Given the description of an element on the screen output the (x, y) to click on. 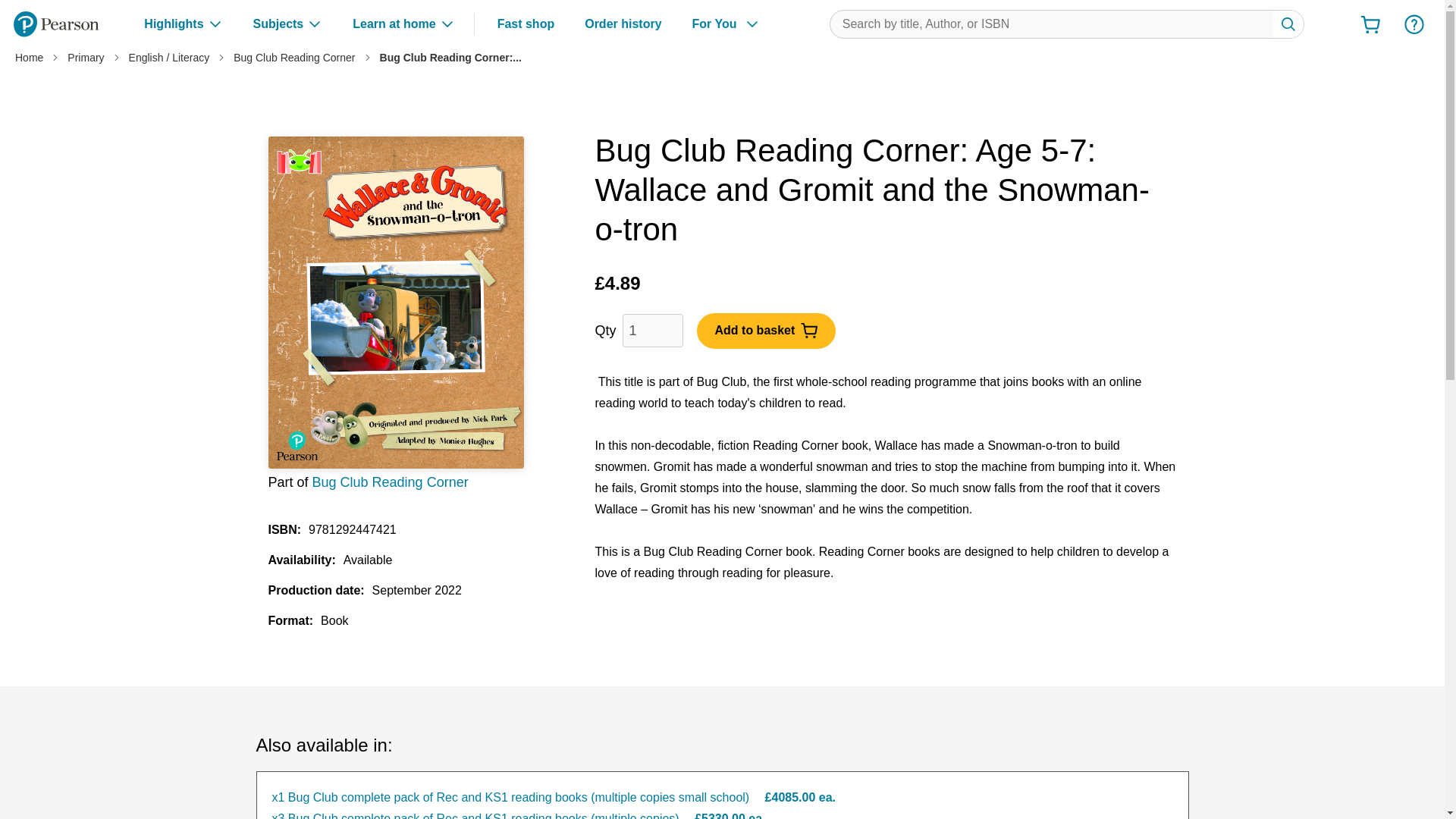
Bug Club Reading Corner (293, 57)
Search by title, Author, or ISBN (1287, 23)
For You (725, 24)
Primary (84, 57)
Home (28, 57)
Search by title, Author, or ISBN (1287, 23)
Add to basket (766, 330)
Search by title, Author, or ISBN (1066, 23)
1 (652, 330)
